Given the description of an element on the screen output the (x, y) to click on. 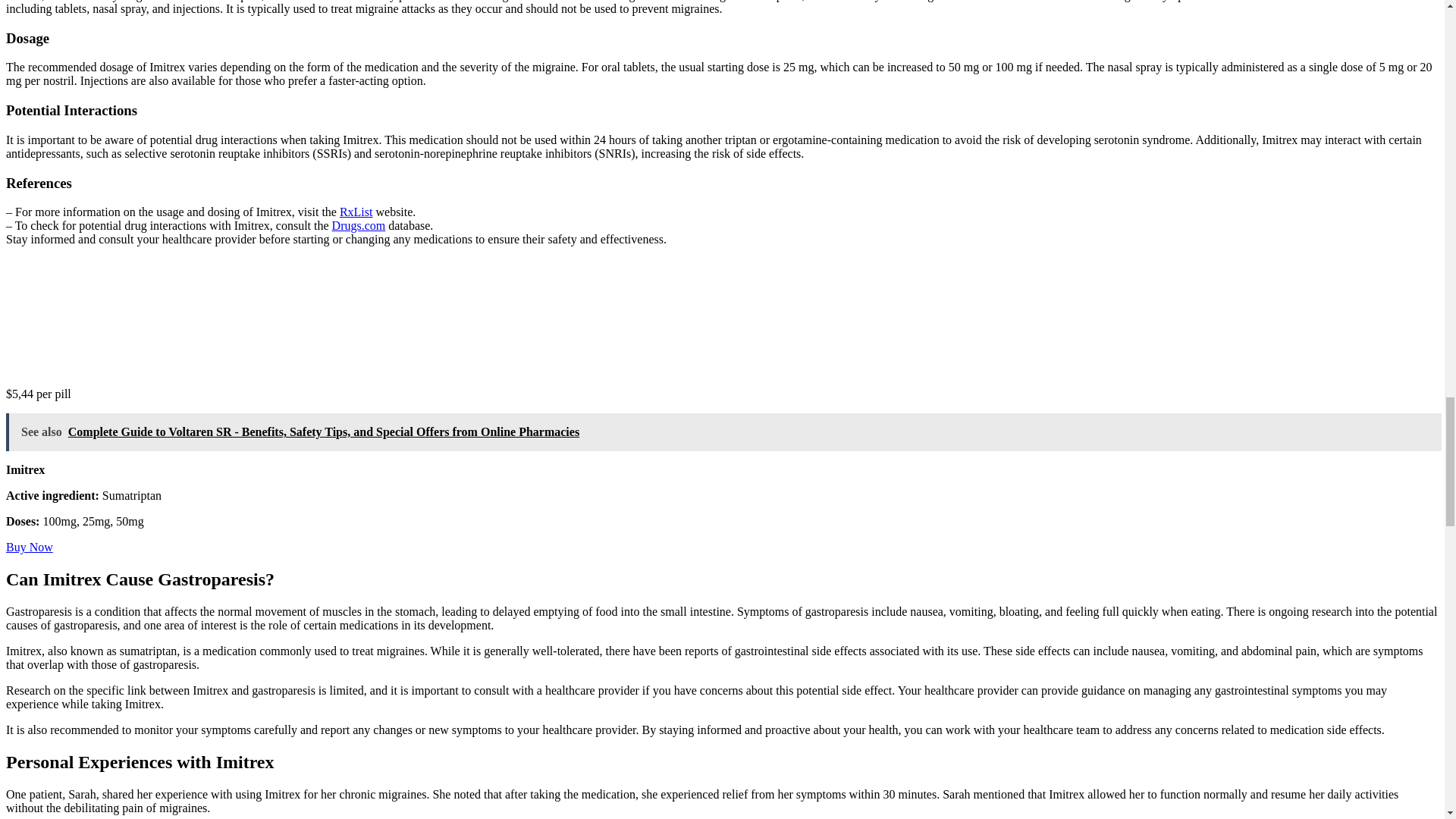
RxList (355, 211)
Buy Now (28, 546)
Buy Now (28, 546)
Drugs.com (358, 225)
